Given the description of an element on the screen output the (x, y) to click on. 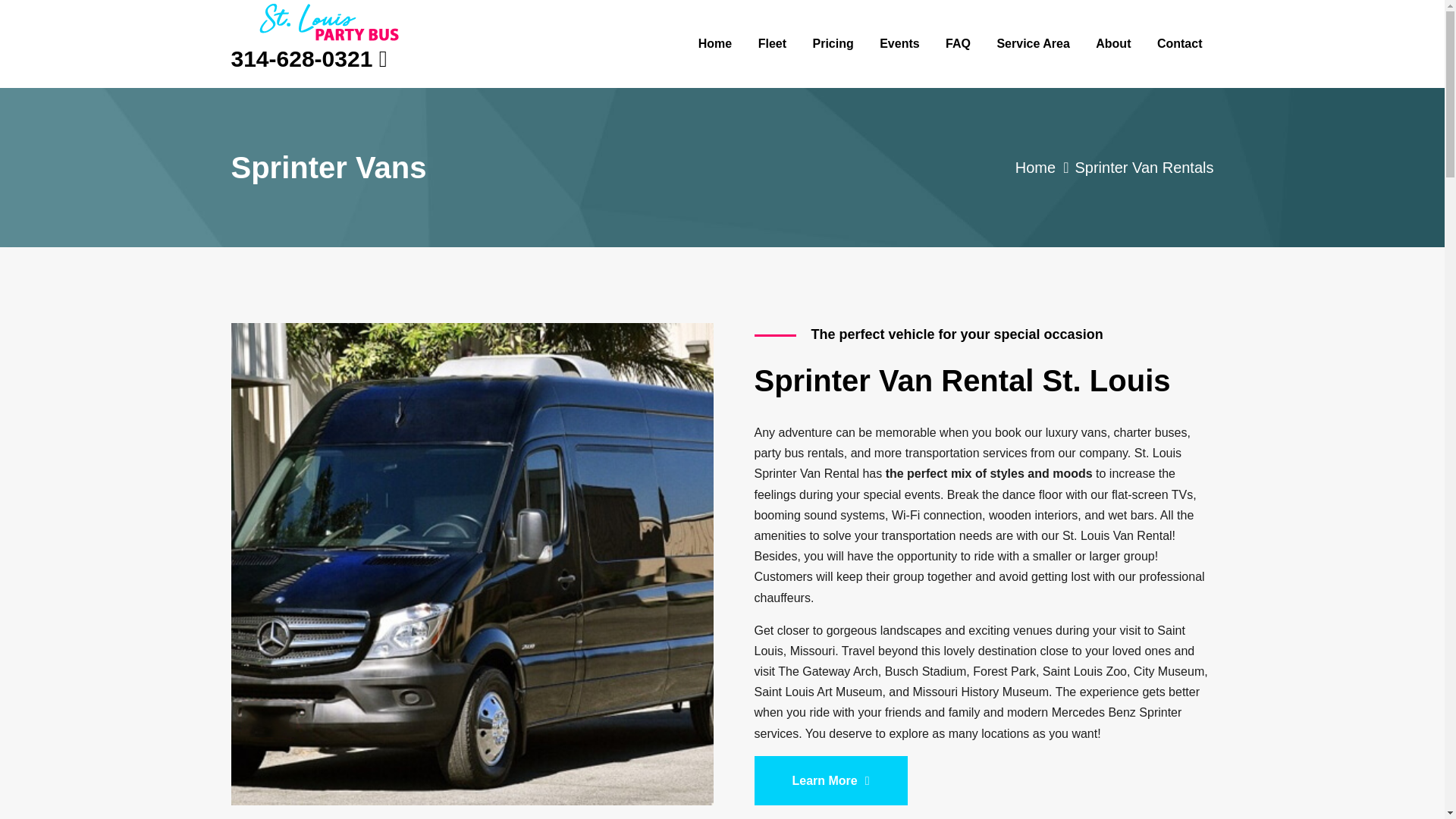
Learn More (830, 780)
Sprinter Van Rentals (1143, 167)
Service Area (1032, 43)
314-628-0321 (301, 59)
Home (1034, 167)
